Given the description of an element on the screen output the (x, y) to click on. 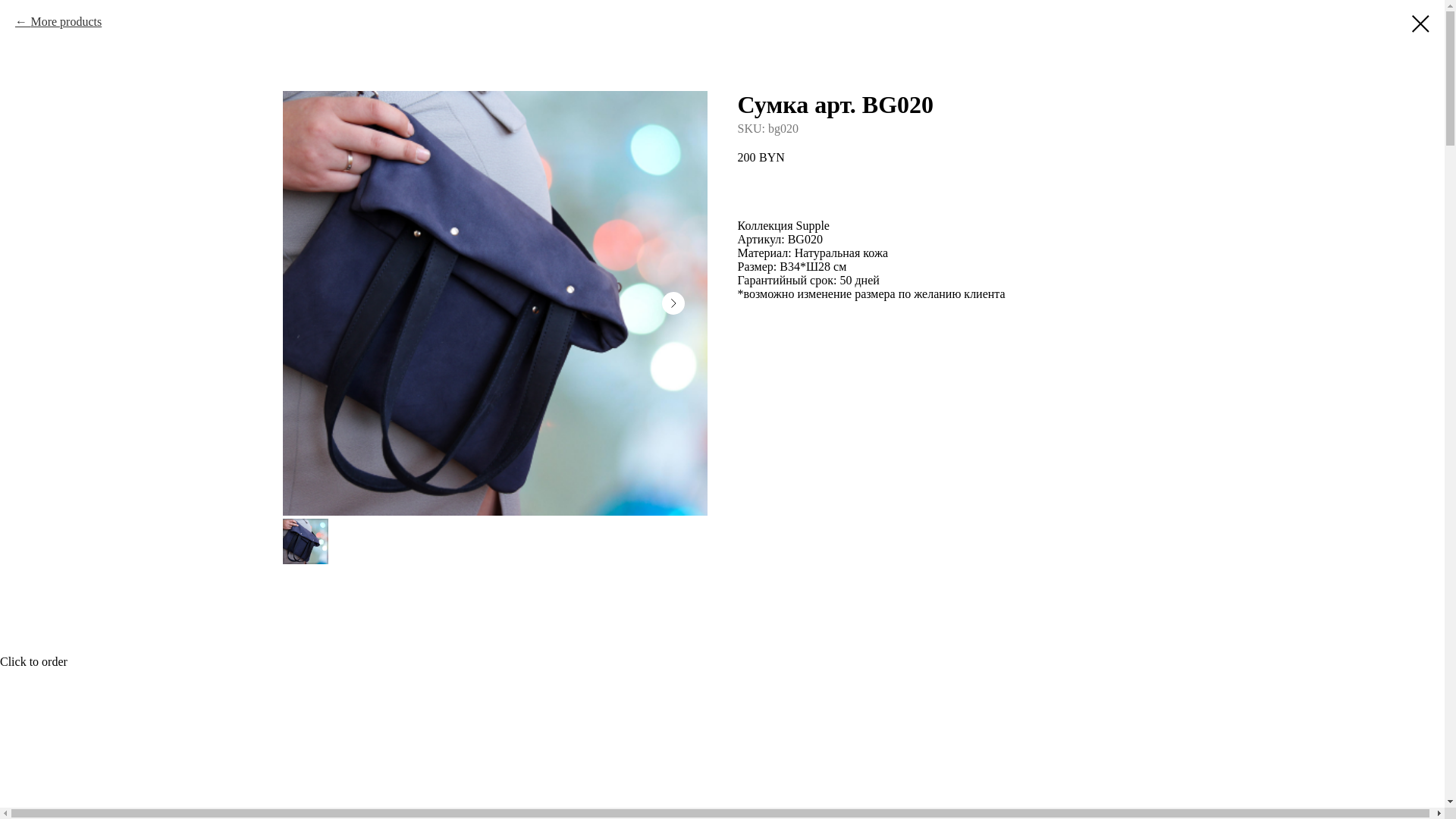
BUY NOW Element type: text (949, 187)
More products Element type: text (58, 21)
